Given the description of an element on the screen output the (x, y) to click on. 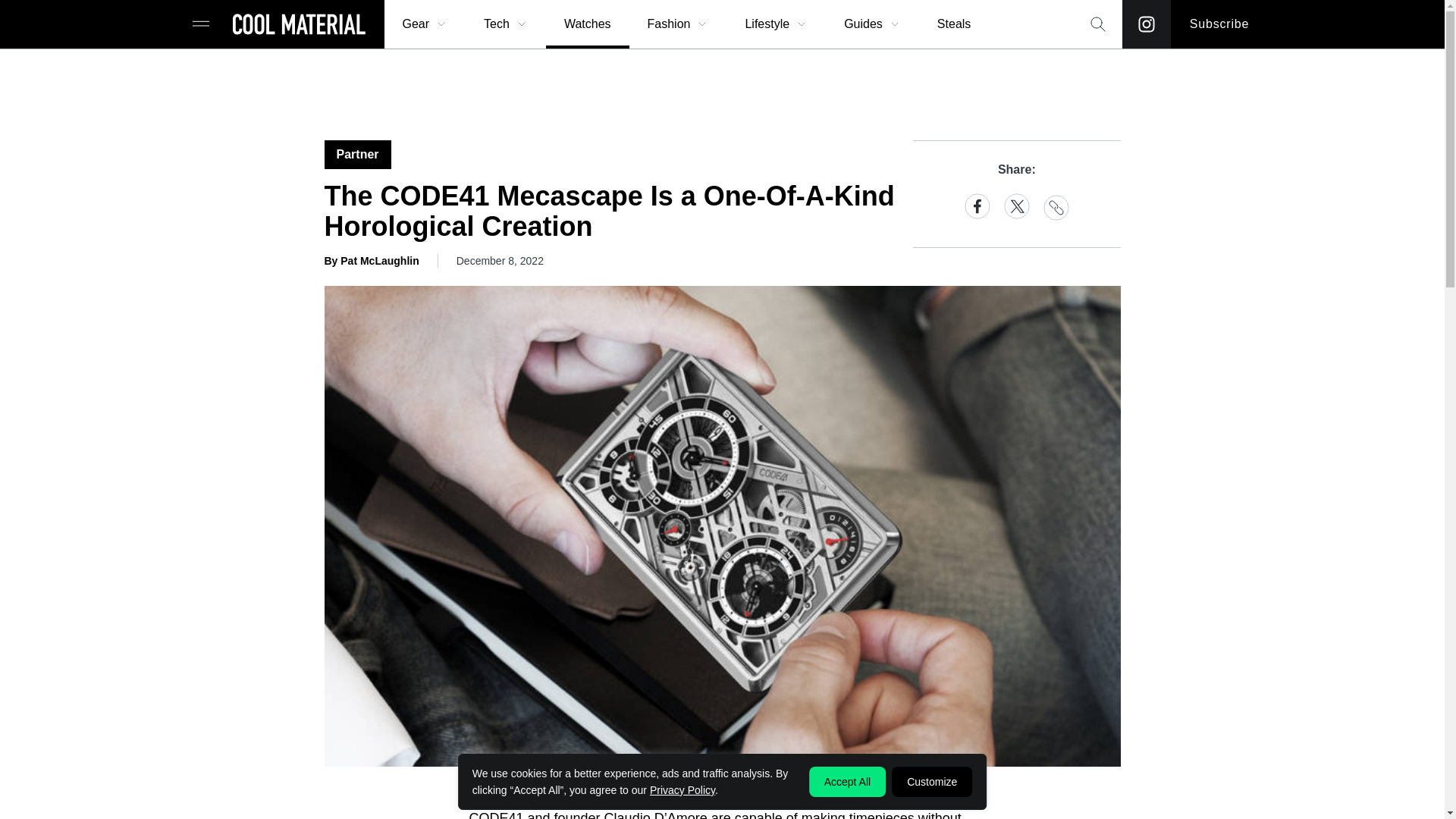
Fashion (677, 24)
Customize (931, 781)
Gear (424, 24)
Lifestyle (775, 24)
Accept All (847, 781)
Watches (587, 24)
Privacy Policy (681, 789)
Tech (505, 24)
